Given the description of an element on the screen output the (x, y) to click on. 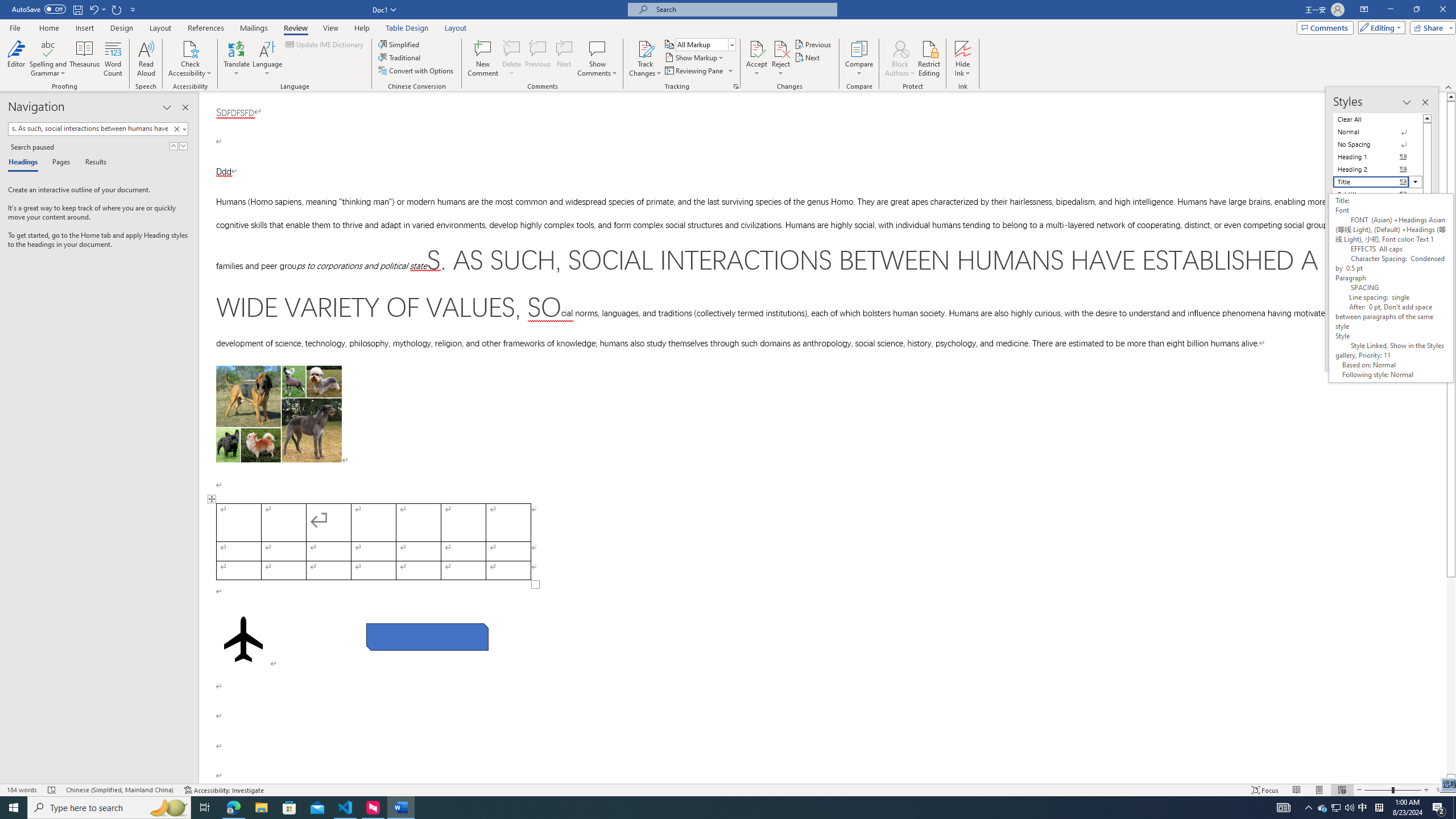
Delete (511, 58)
Next Result (183, 145)
Convert with Options... (417, 69)
Language (267, 58)
Intense Reference (1377, 294)
Clear (178, 128)
